Given the description of an element on the screen output the (x, y) to click on. 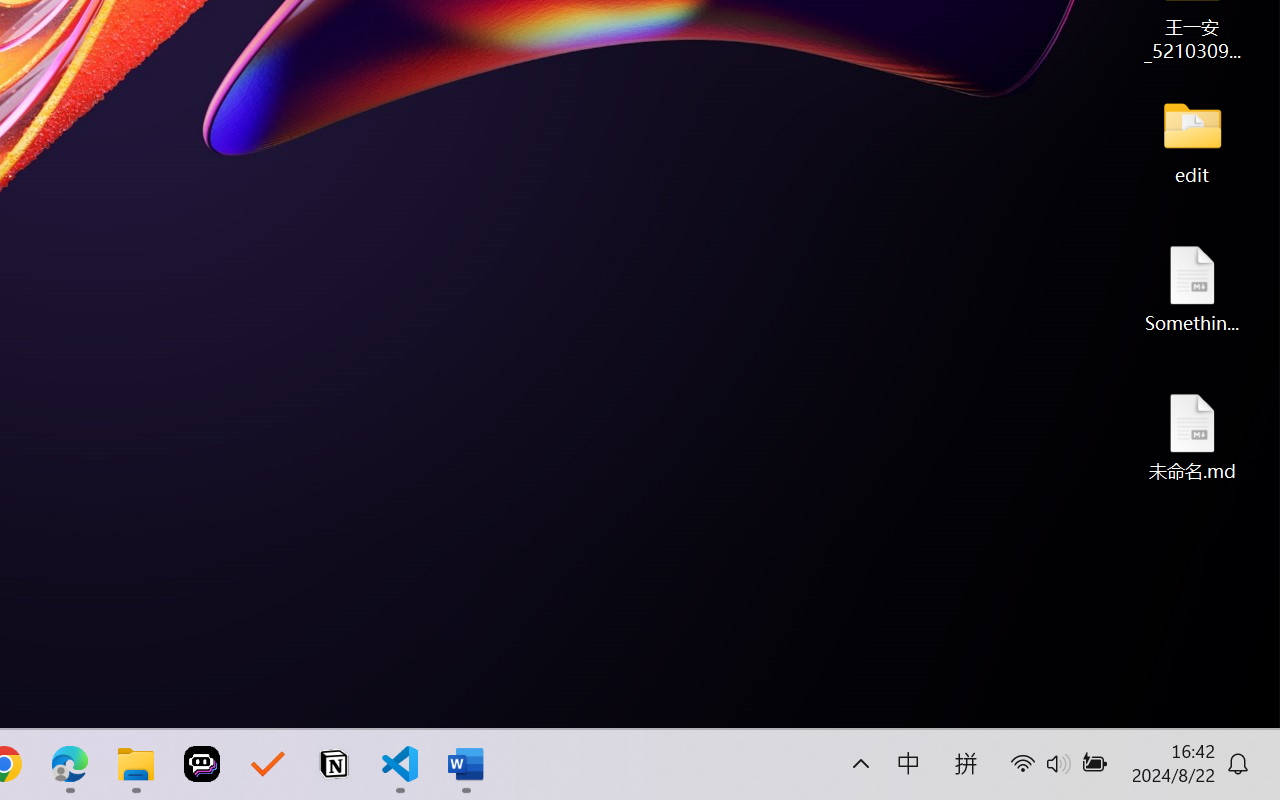
edit (1192, 140)
